Given the description of an element on the screen output the (x, y) to click on. 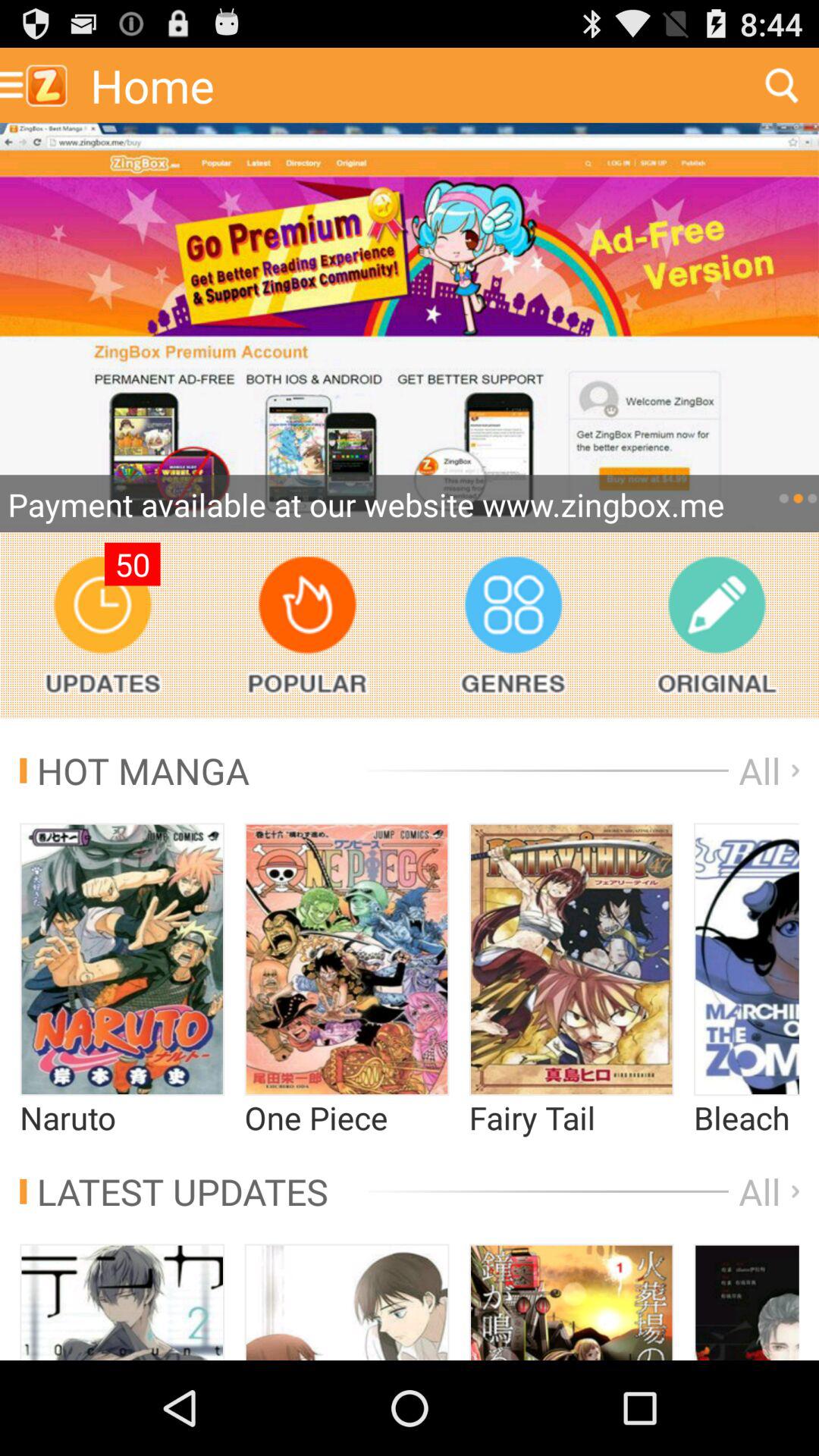
swipe to the hot manga item (134, 770)
